Given the description of an element on the screen output the (x, y) to click on. 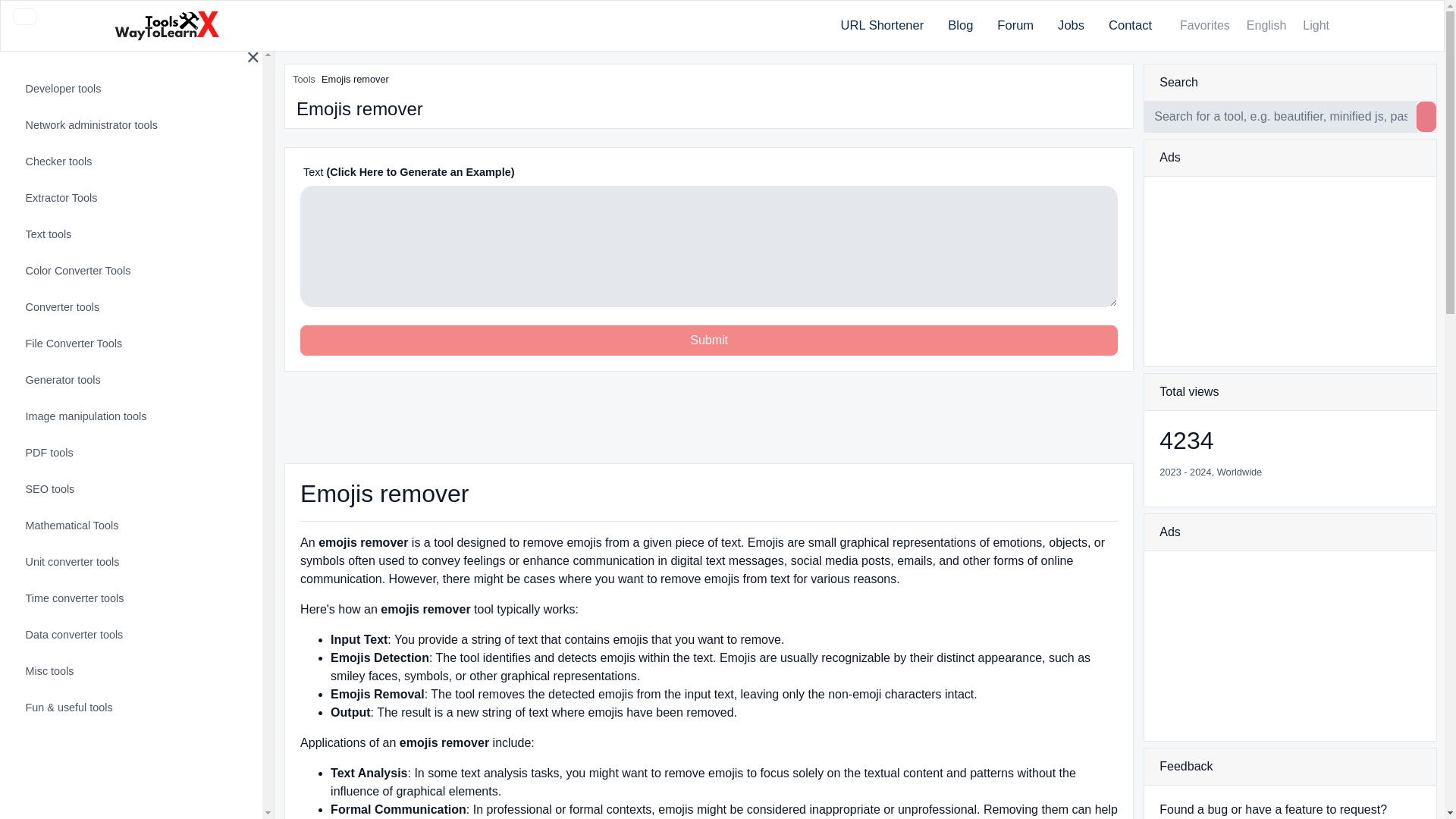
Light (1314, 25)
Network administrator tools (129, 125)
Contact (1129, 26)
URL Shortener (882, 26)
Jobs (1070, 26)
English (1265, 25)
Choose Language (1265, 25)
Blog (960, 26)
Switch to Dark Mode (1314, 25)
Favorites (1203, 25)
